Given the description of an element on the screen output the (x, y) to click on. 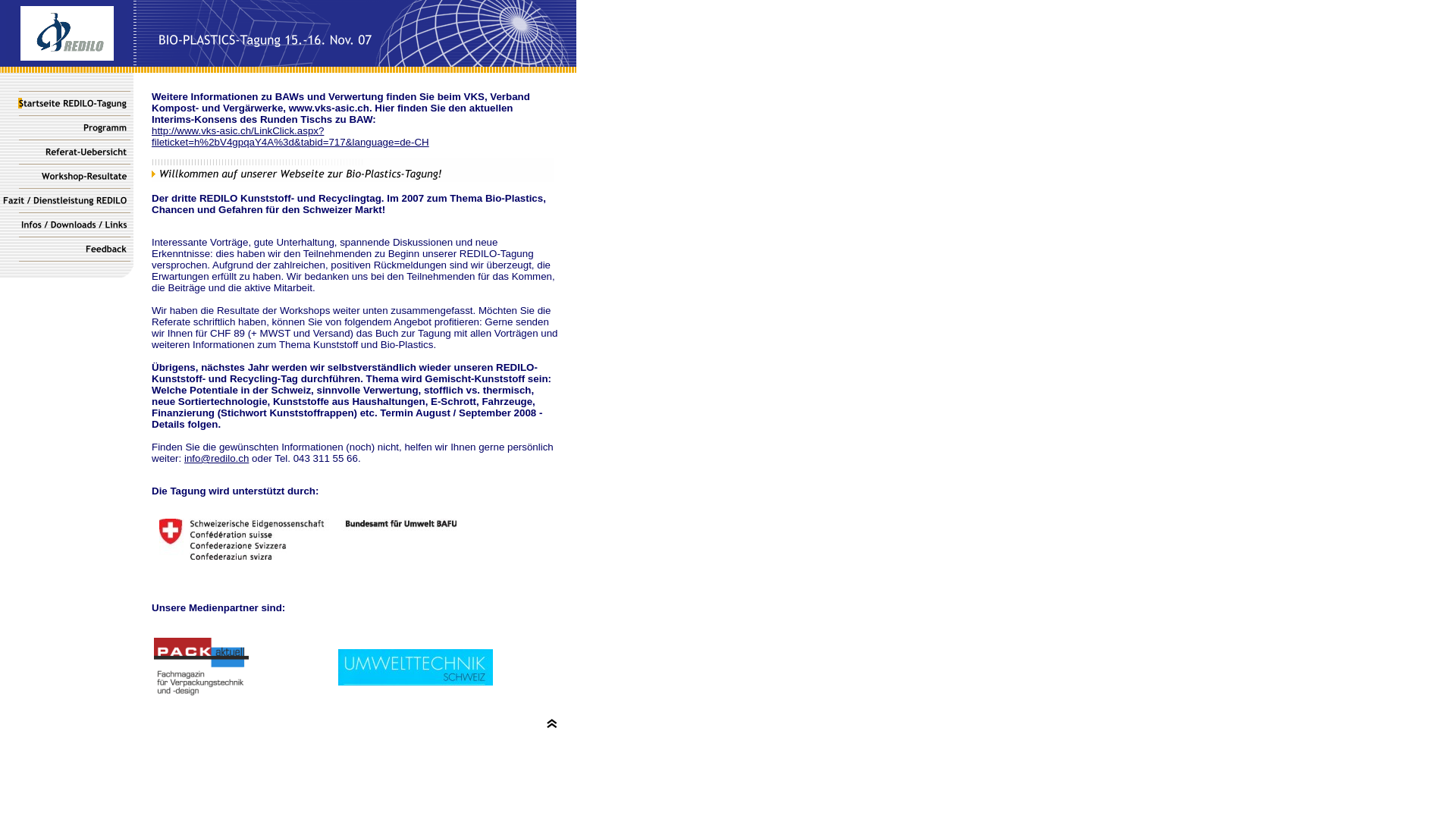
info@redilo.ch Element type: text (216, 458)
